Given the description of an element on the screen output the (x, y) to click on. 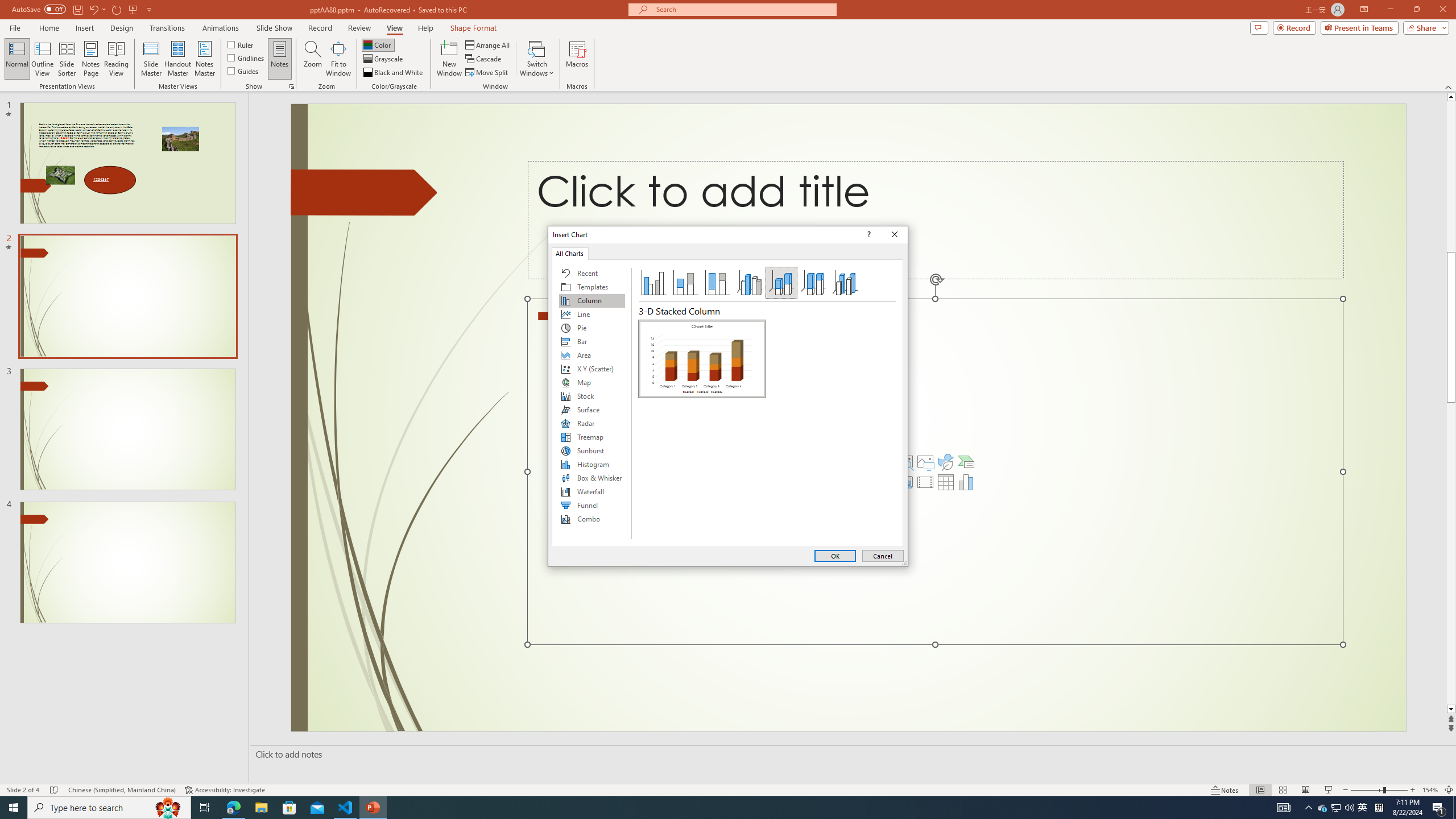
Move Split (487, 72)
Funnel (591, 505)
Radar (591, 423)
Grid Settings... (291, 85)
Histogram (591, 464)
